Given the description of an element on the screen output the (x, y) to click on. 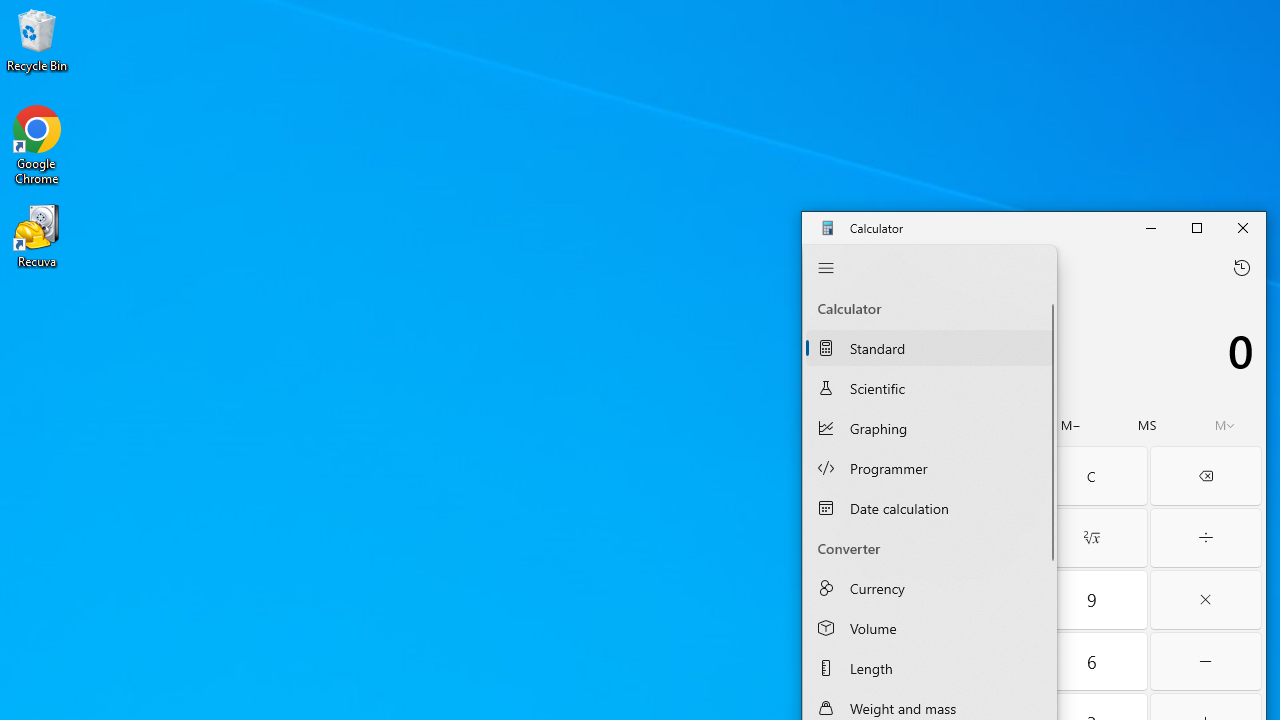
Clear entry (976, 475)
Memory recall (918, 425)
Close Calculator (1242, 227)
Graphing Calculator (929, 427)
Length Converter (929, 668)
Clear all memory (843, 425)
Currency Converter (929, 588)
Divide by (1205, 538)
Clear (1091, 475)
Volume Converter (929, 627)
Four (862, 661)
Memory add (994, 425)
Scientific Calculator (929, 388)
Six (1091, 661)
Square (976, 538)
